Given the description of an element on the screen output the (x, y) to click on. 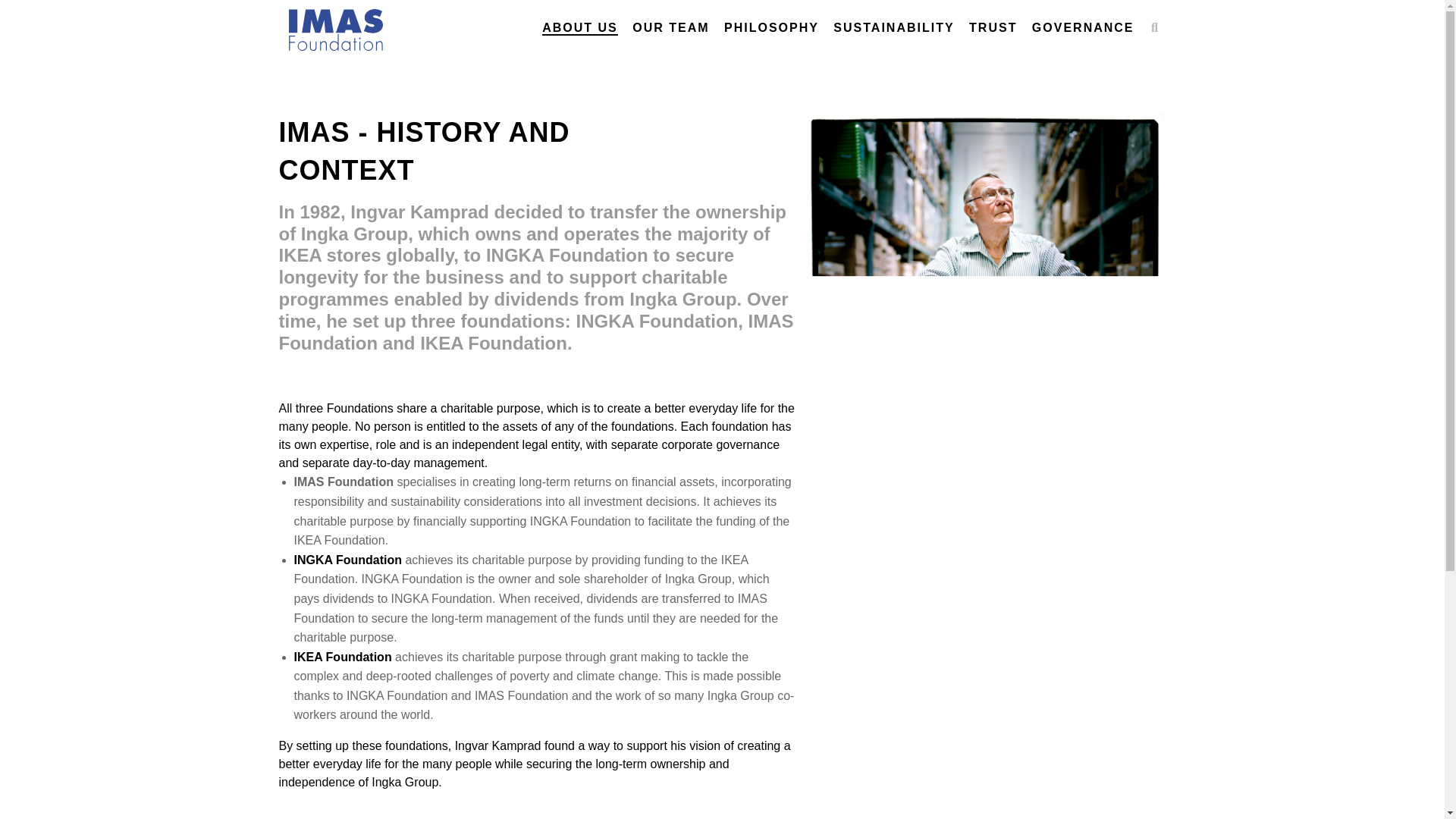
ABOUT US (579, 28)
Search for: (708, 22)
TRUST (992, 28)
OUR TEAM (670, 28)
SUSTAINABILITY (892, 28)
INGKA Foundation (348, 559)
IKEA Foundation (345, 656)
PHILOSOPHY (770, 28)
GOVERNANCE (1083, 28)
